Given the description of an element on the screen output the (x, y) to click on. 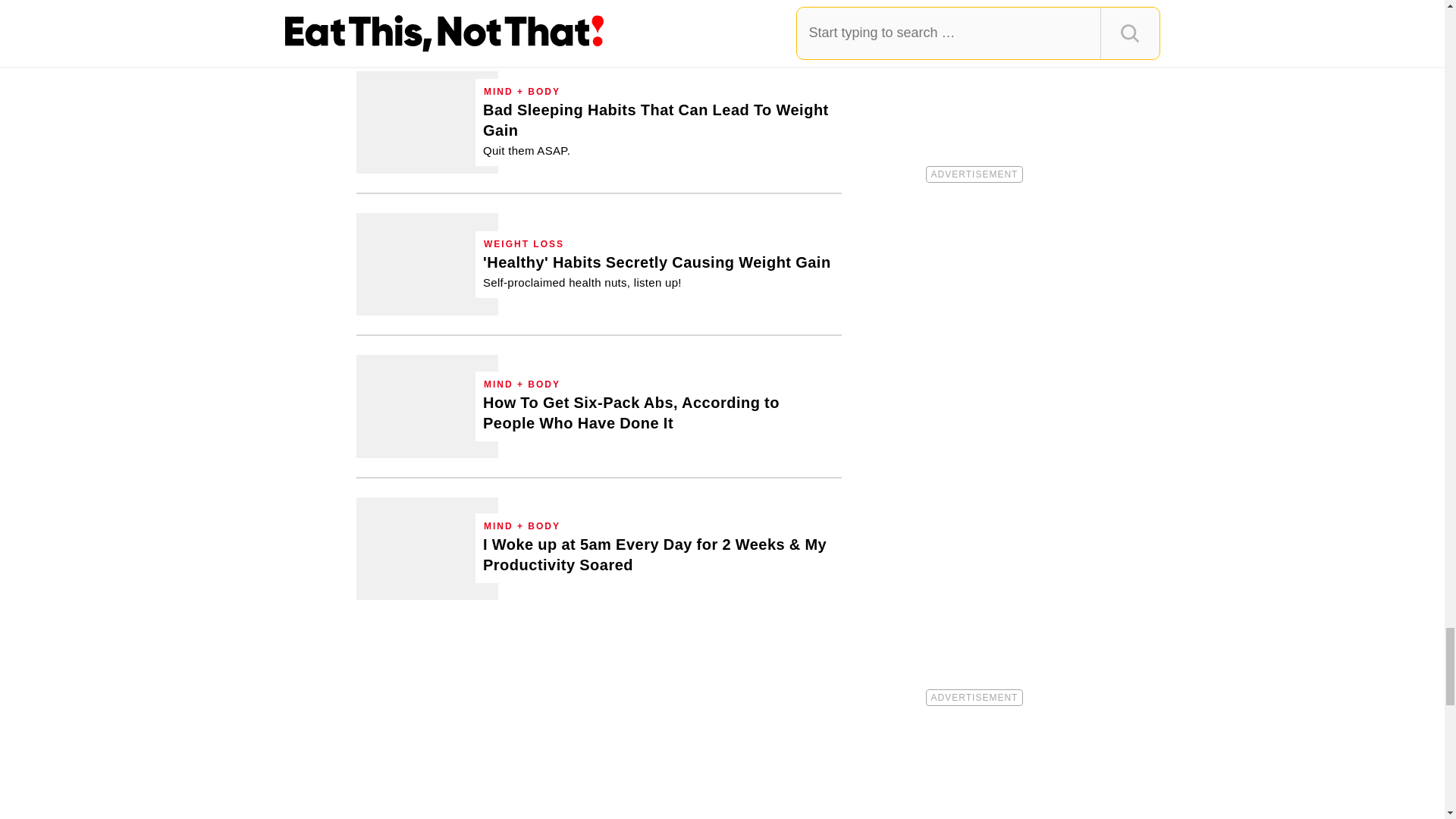
21 'Healthy' Habits Secretly Making You Gain Weight (426, 263)
21 'Healthy' Habits Secretly Making You Gain Weight (657, 271)
